Given the description of an element on the screen output the (x, y) to click on. 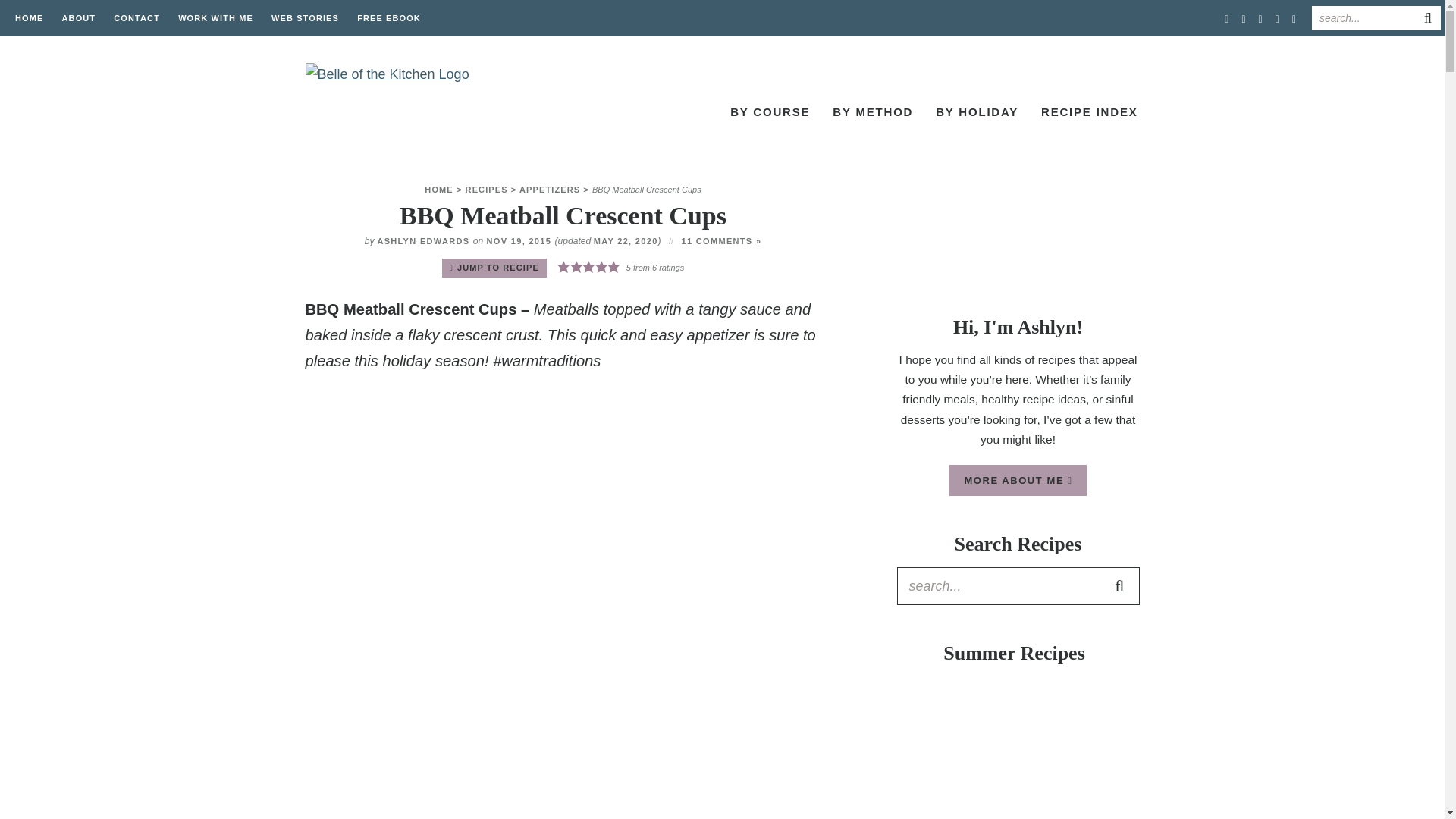
WEB STORIES (304, 17)
FREE EBOOK (388, 17)
HOME (28, 17)
WORK WITH ME (215, 17)
Belle of the Kitchen (395, 110)
ABOUT (79, 17)
More About Me (1017, 241)
CONTACT (136, 17)
BROWSE RECIPES (657, 114)
